Given the description of an element on the screen output the (x, y) to click on. 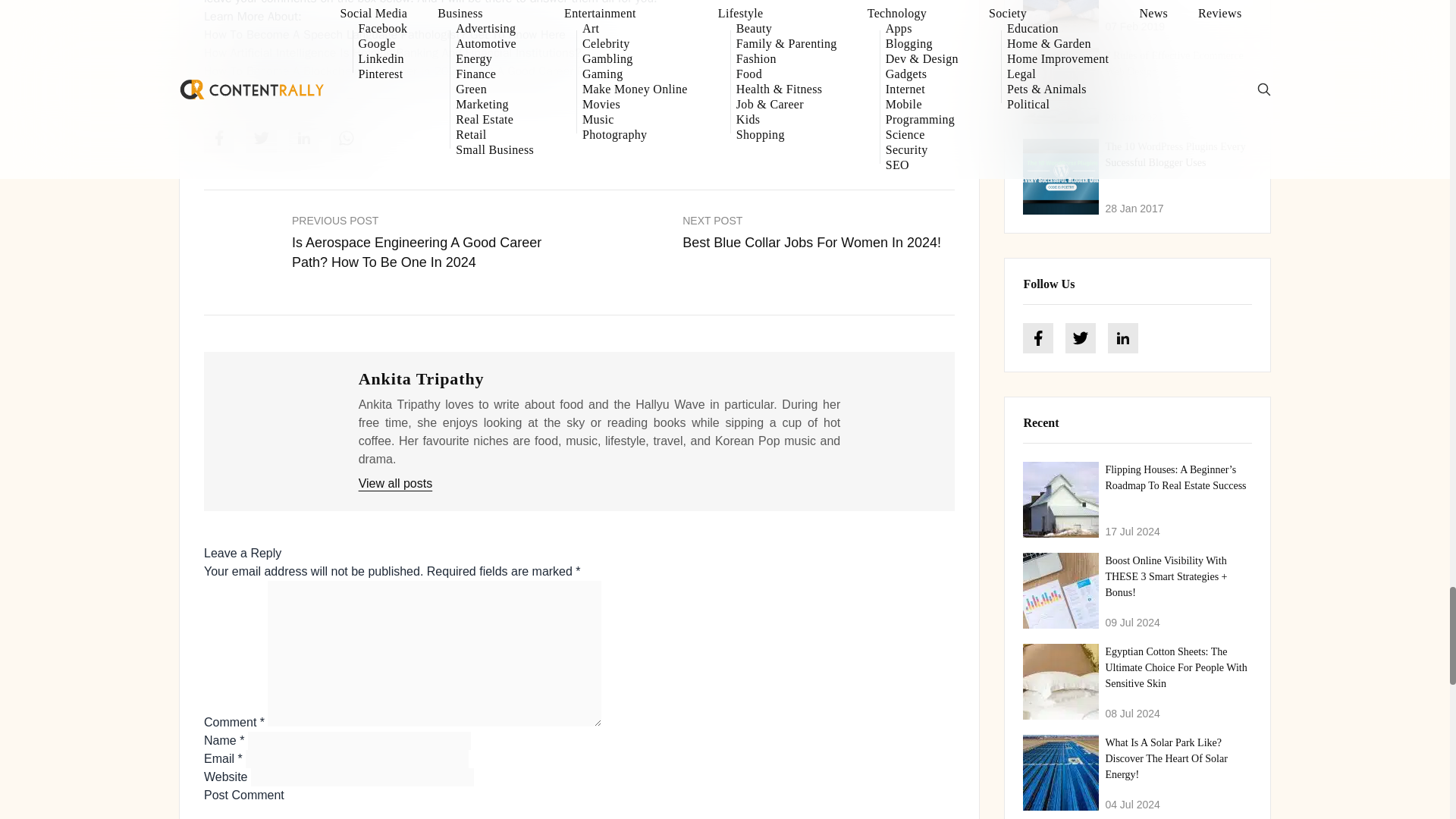
Post Comment (243, 794)
